Given the description of an element on the screen output the (x, y) to click on. 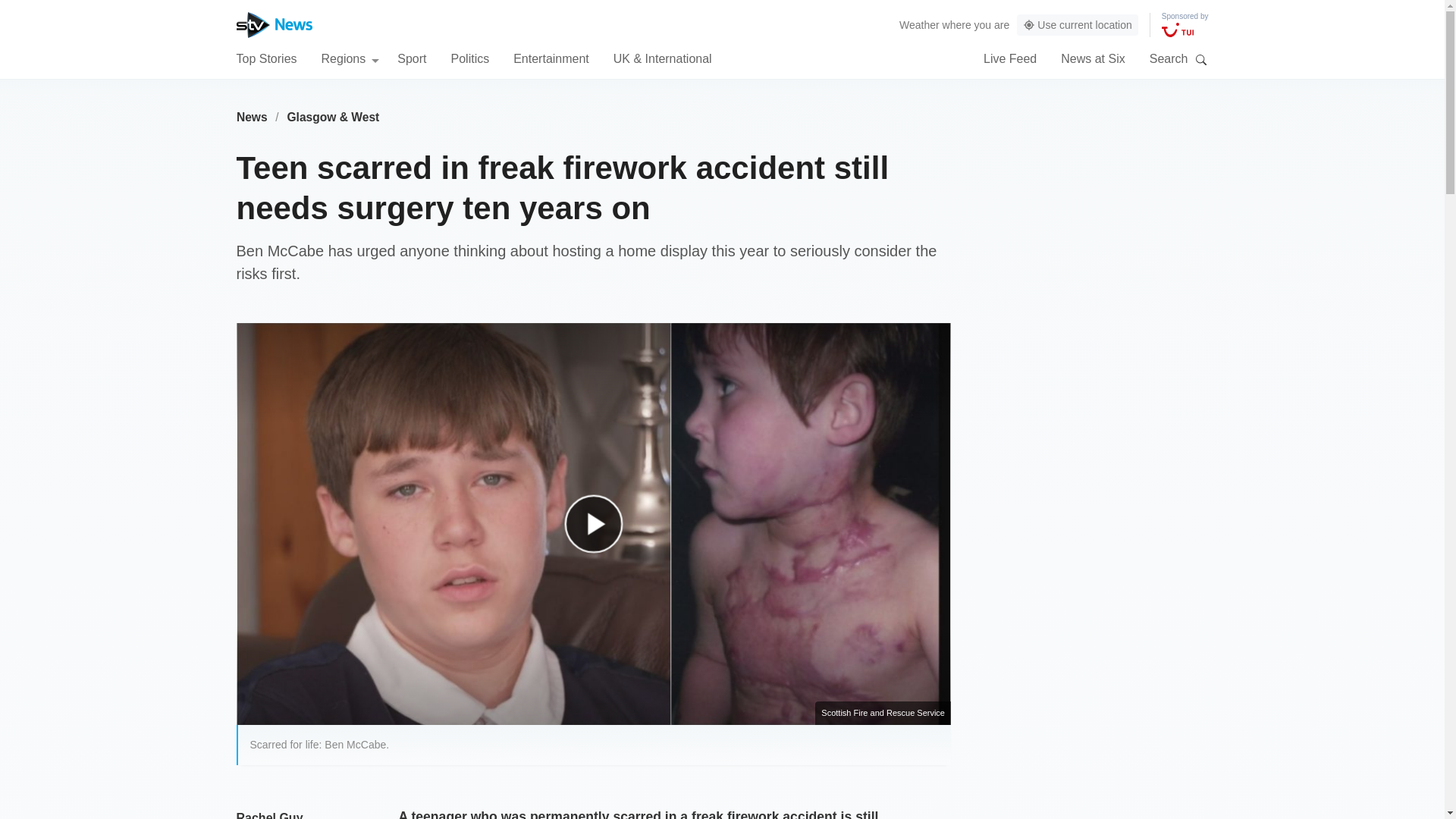
Play Video (600, 530)
Regions (350, 57)
News at Six (1092, 57)
Search (1201, 59)
Live Feed (1010, 57)
Use current location (1077, 25)
Entertainment (551, 57)
Weather (919, 24)
Top Stories (266, 57)
News (252, 116)
